Given the description of an element on the screen output the (x, y) to click on. 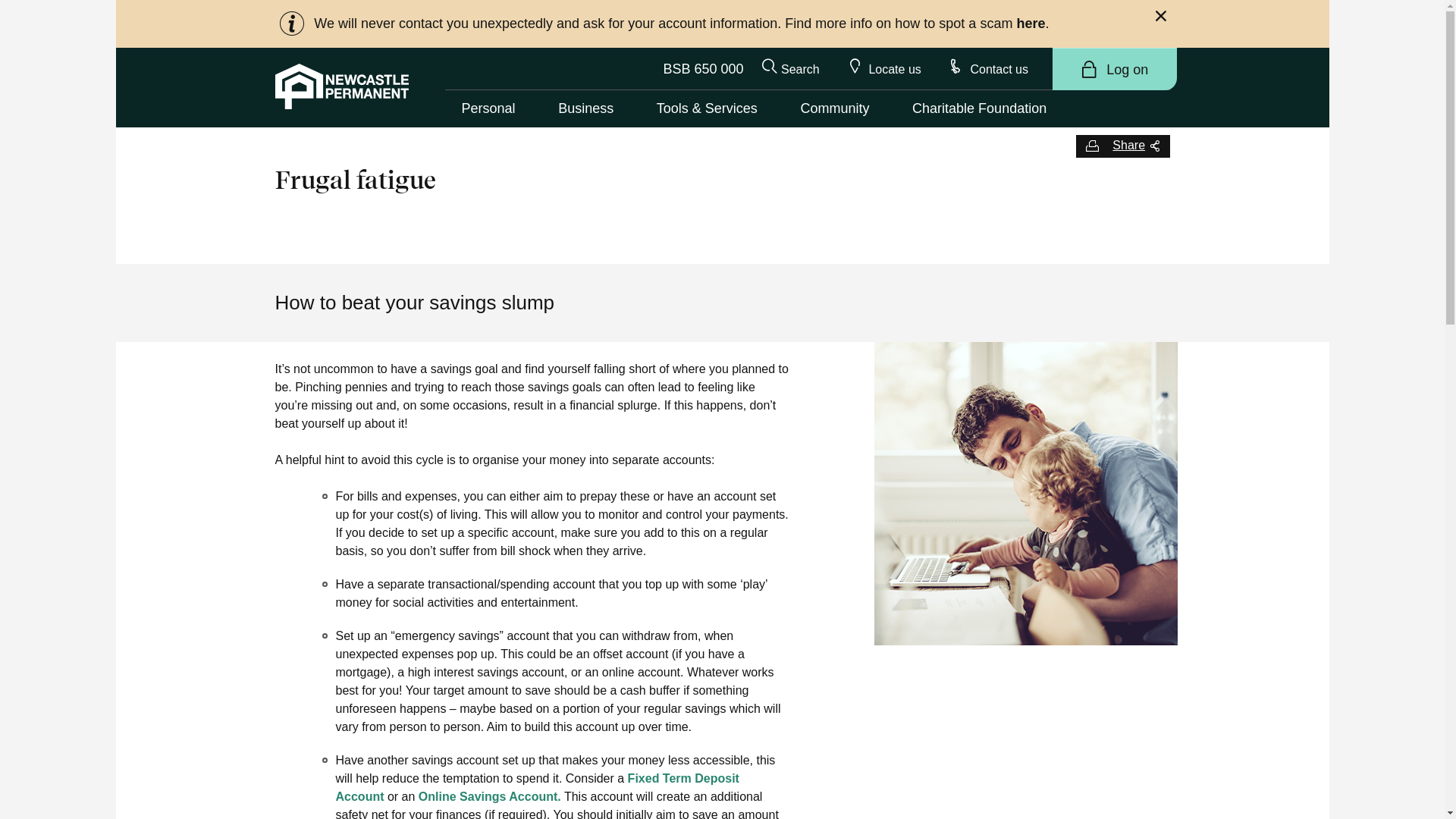
Personal Element type: text (488, 108)
Fixed Term Deposit Account Element type: text (536, 787)
Tools & Services Element type: text (707, 108)
Contact us Element type: text (988, 67)
Community Element type: text (834, 108)
Dismiss Element type: text (1161, 18)
Newcastle Permanent Building Society (NPBS) Logo Element type: hover (340, 86)
Share Element type: text (1135, 145)
Locate us Element type: text (883, 67)
Search Element type: text (790, 67)
Log on Element type: text (1114, 69)
Online Savings Account. Element type: text (489, 796)
here Element type: text (1030, 23)
Newcastle Permanent Element type: text (340, 86)
Read more Element type: text (687, 23)
Charitable Foundation Element type: text (978, 108)
Print Element type: text (1091, 145)
Business Element type: text (585, 108)
